Given the description of an element on the screen output the (x, y) to click on. 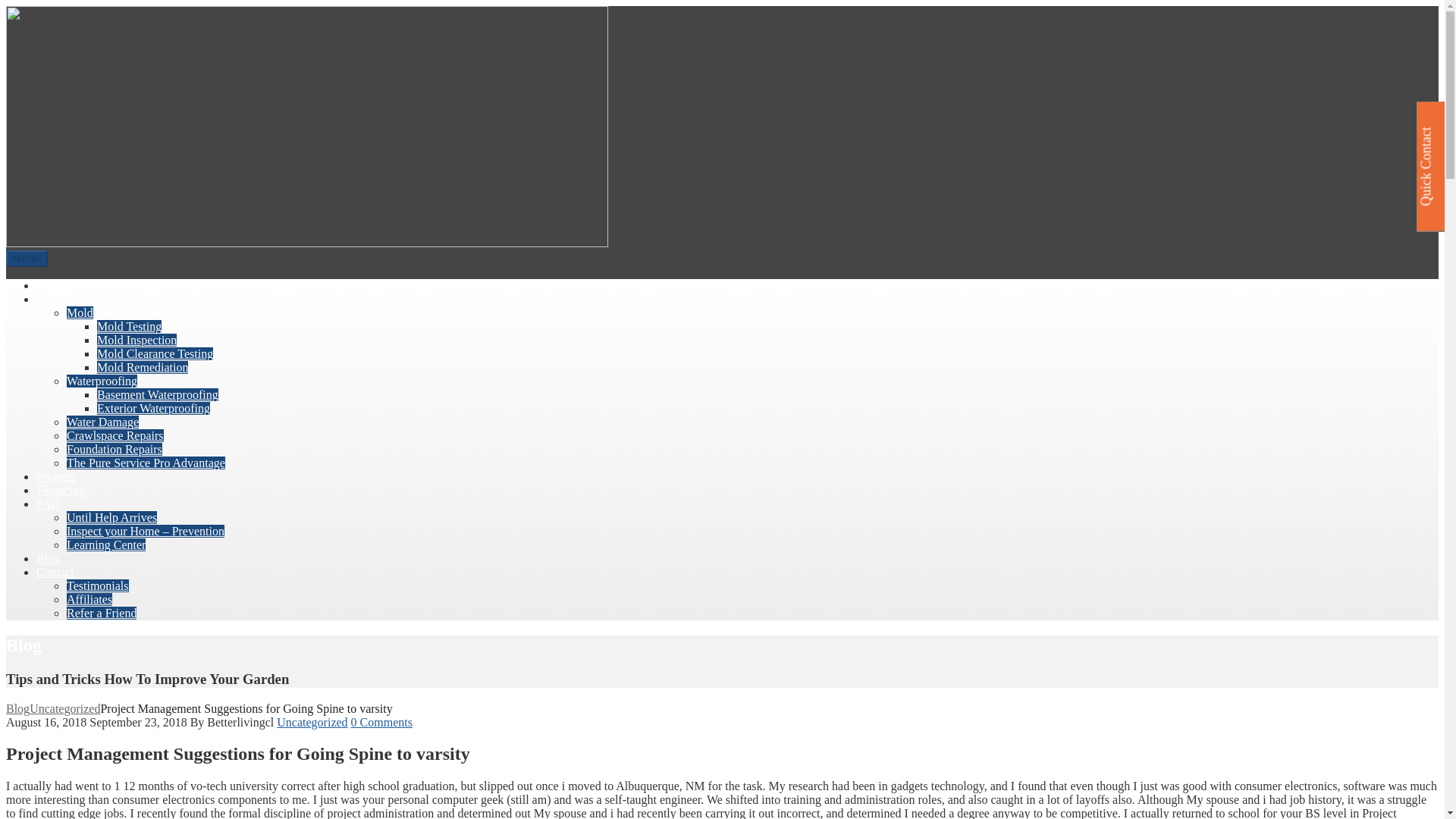
Blog (47, 558)
Foundation Repairs (113, 449)
Learning Center (105, 544)
Uncategorized (311, 721)
Affiliates (89, 599)
Mold Clearance Testing (154, 353)
Mold (79, 312)
Go to the Uncategorized Category archives. (64, 707)
Home (50, 285)
Testimonials (97, 585)
Waterproofing (101, 380)
Until Help Arrives (111, 517)
FAQ (47, 503)
Contact (55, 571)
Mold Testing (129, 326)
